Given the description of an element on the screen output the (x, y) to click on. 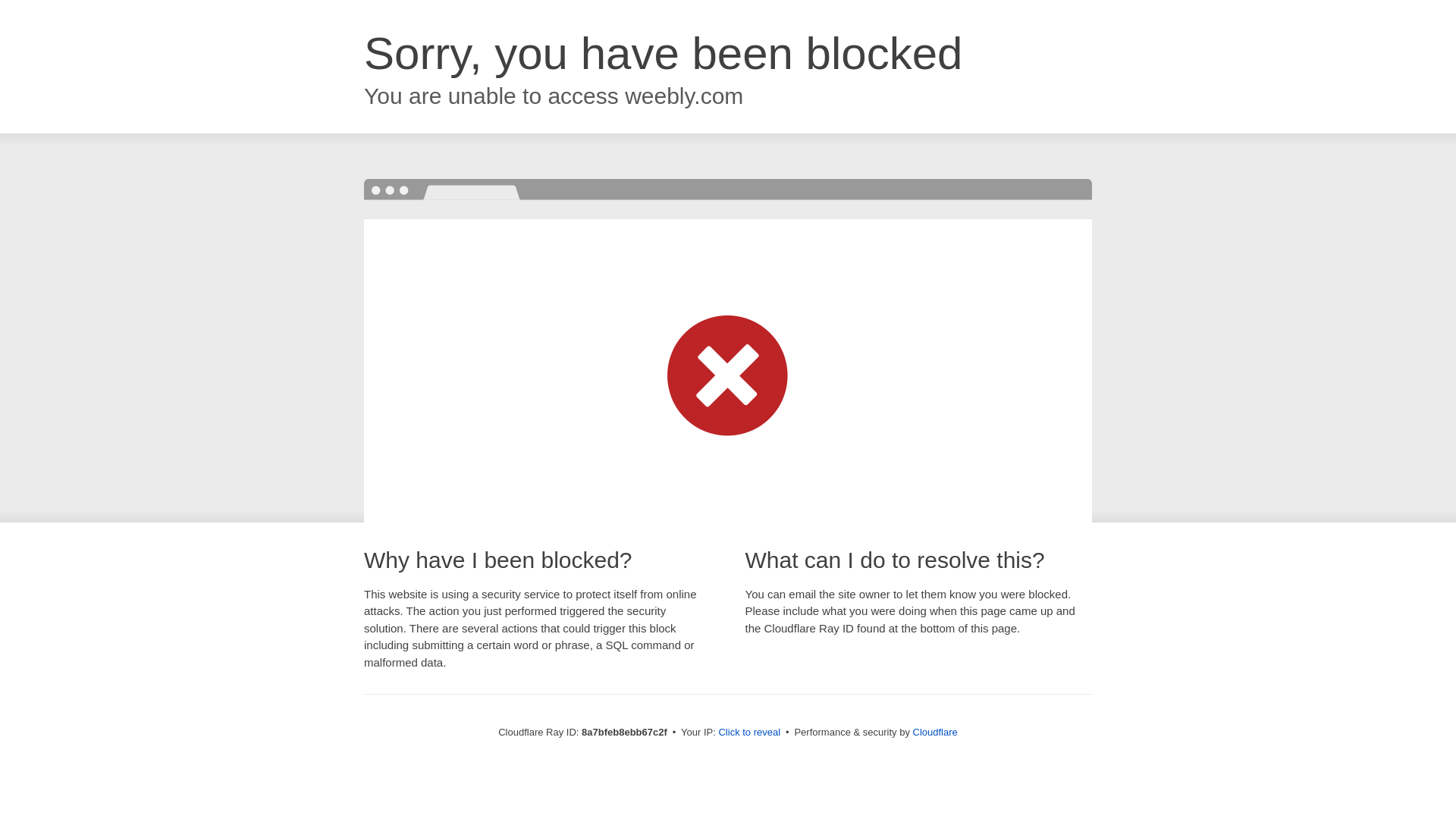
Click to reveal (748, 732)
Cloudflare (935, 731)
